Given the description of an element on the screen output the (x, y) to click on. 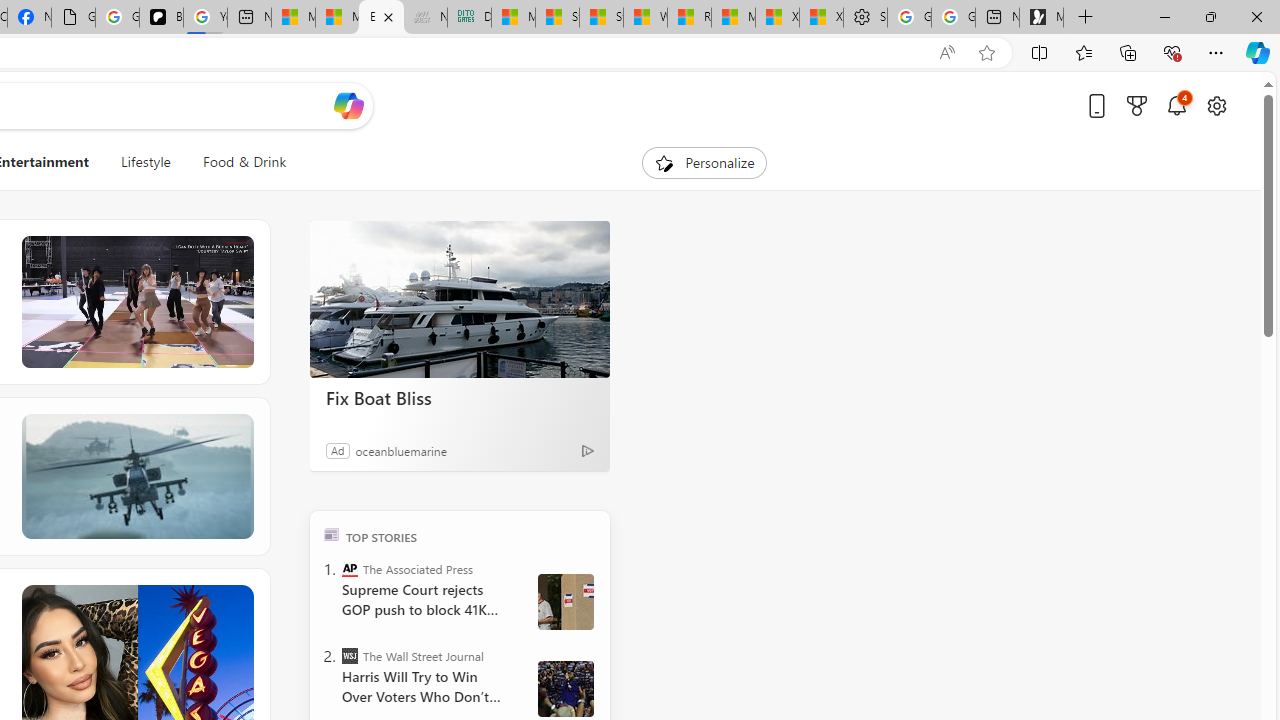
Stocks - MSN (601, 17)
Fix Boat Bliss (459, 397)
Class: hero-image (136, 301)
Open settings (1216, 105)
The Wall Street Journal (349, 655)
R******* | Trusted Community Engagement and Contributions (689, 17)
